Given the description of an element on the screen output the (x, y) to click on. 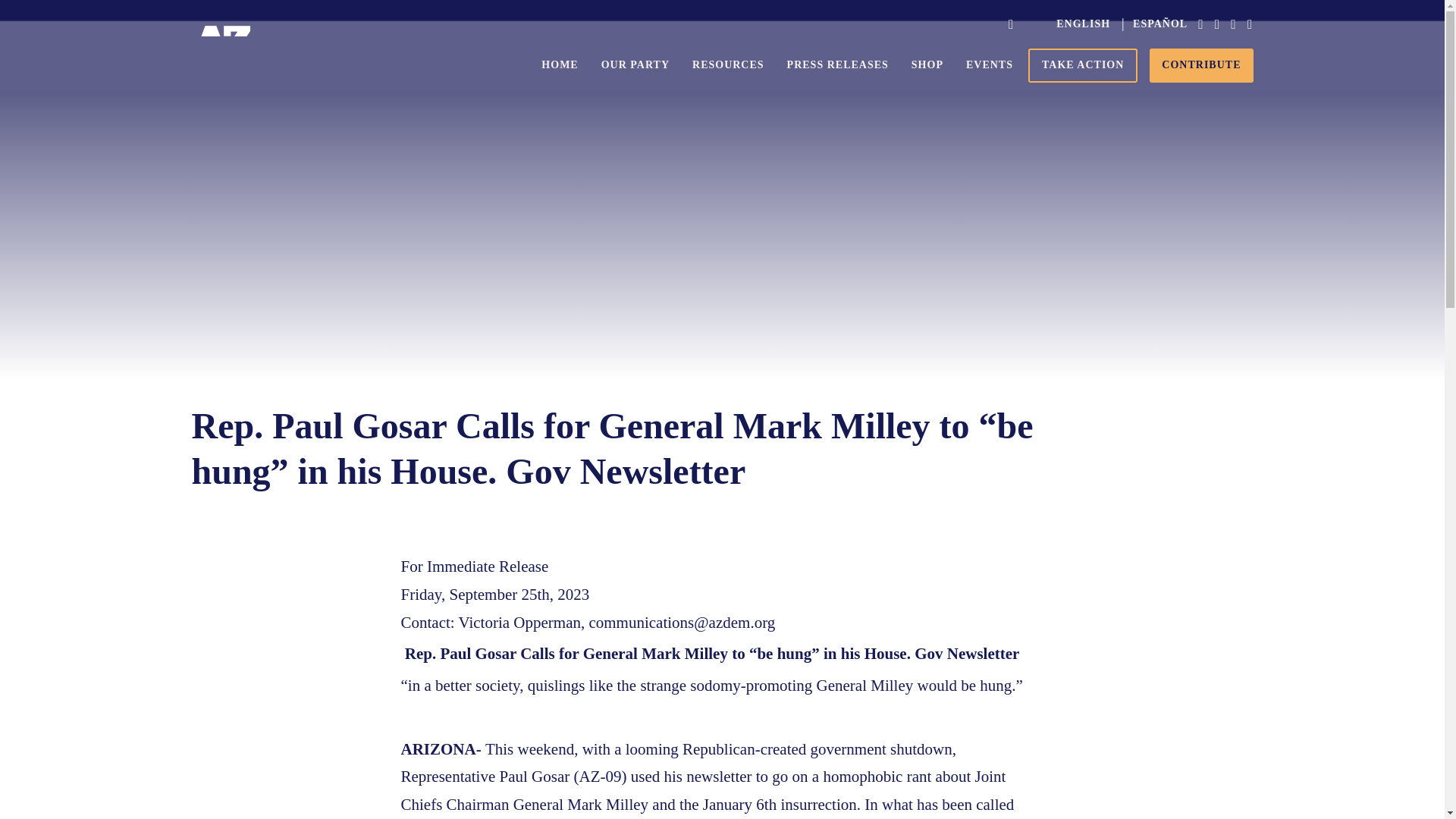
RESOURCES (728, 64)
OUR PARTY (635, 64)
SHOP (927, 64)
PRESS RELEASES (837, 64)
HOME (559, 64)
ENGLISH (1083, 23)
CONTRIBUTE (1201, 64)
EVENTS (989, 64)
TAKE ACTION (1082, 64)
